Given the description of an element on the screen output the (x, y) to click on. 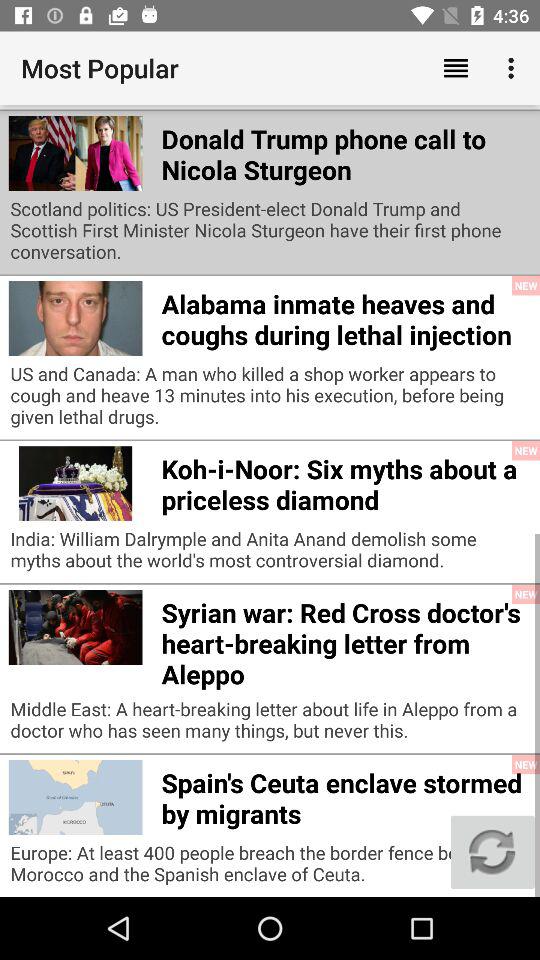
flip to middle east a item (270, 724)
